Given the description of an element on the screen output the (x, y) to click on. 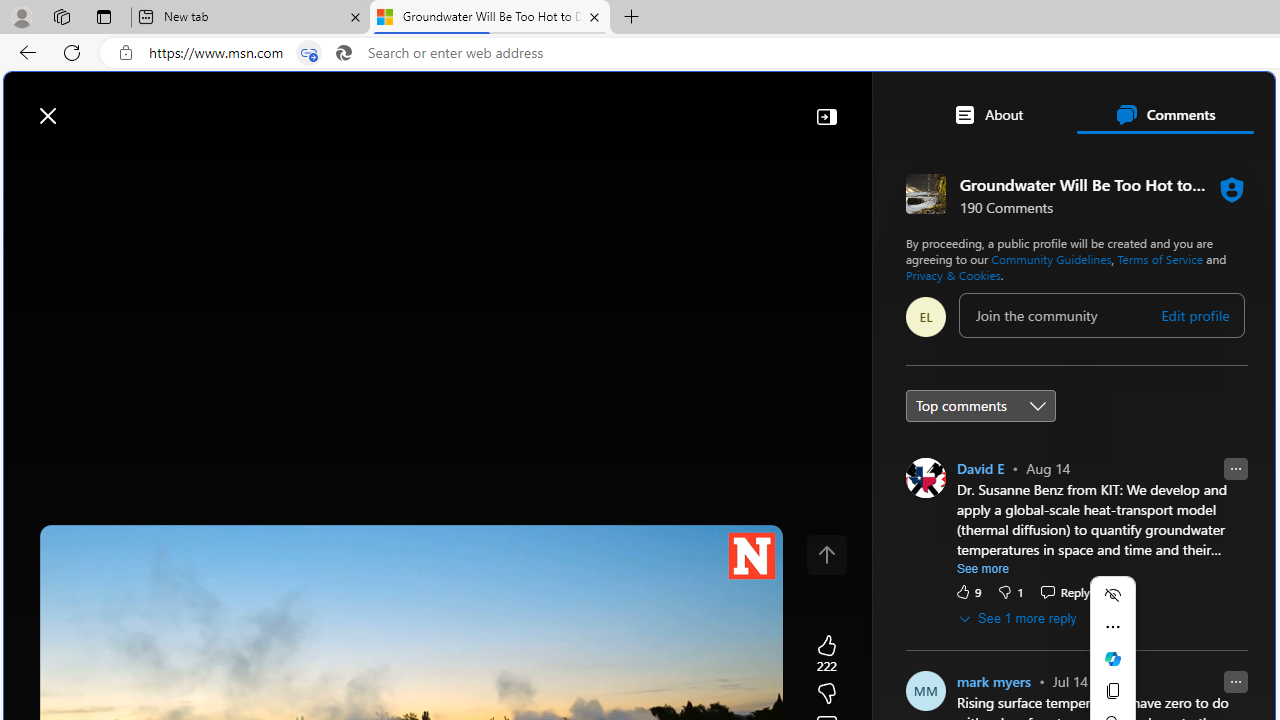
9 Like (967, 591)
Reply Reply Comment (1064, 591)
Terms of Service (1160, 258)
Collapse (826, 115)
comment-box (1101, 314)
Edit profile (1195, 315)
